Given the description of an element on the screen output the (x, y) to click on. 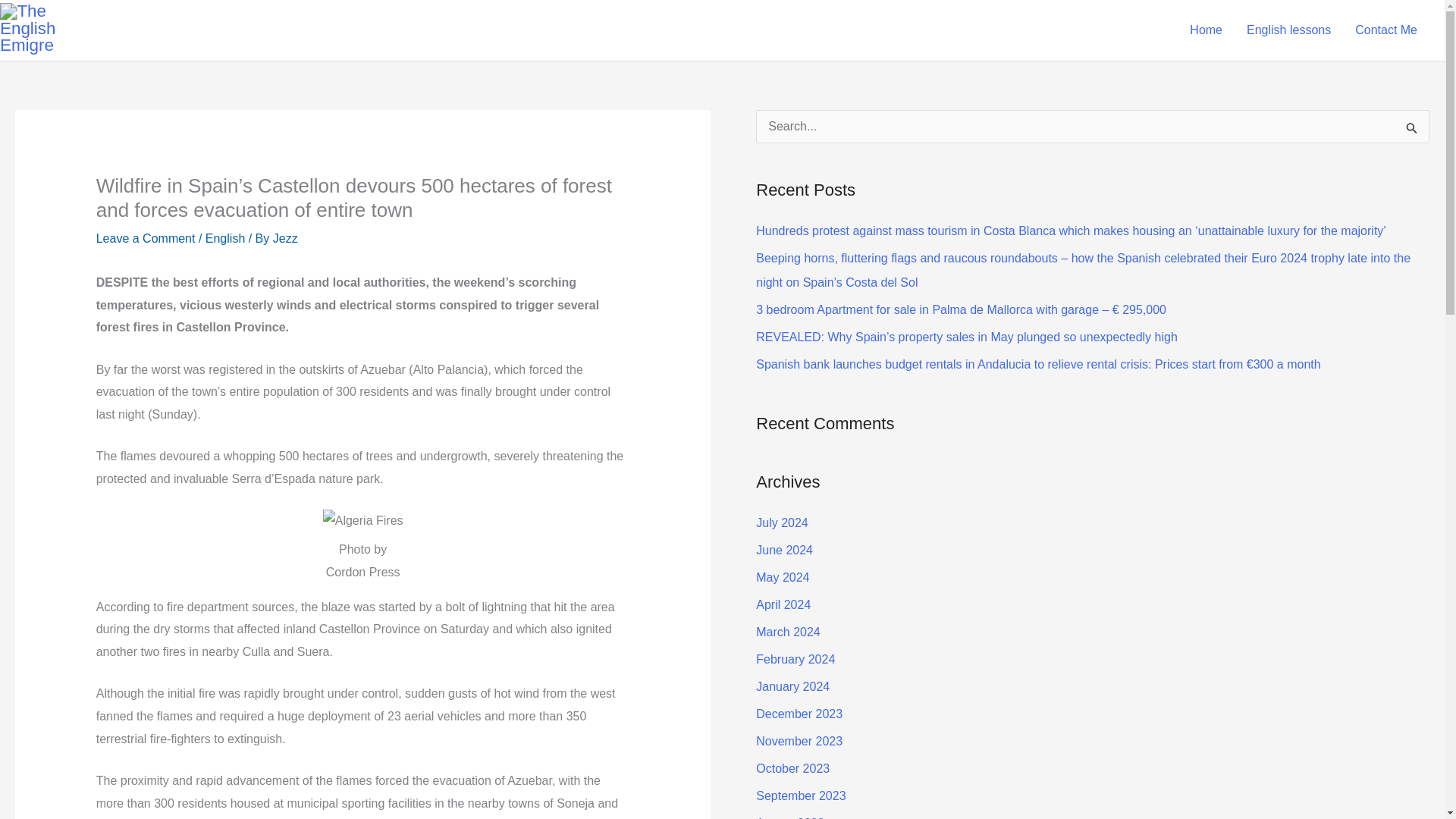
English (224, 237)
August 2023 (789, 817)
June 2024 (783, 549)
April 2024 (782, 604)
Contact Me (1385, 30)
September 2023 (800, 795)
English lessons (1288, 30)
December 2023 (799, 713)
January 2024 (792, 686)
May 2024 (782, 576)
October 2023 (792, 768)
February 2024 (794, 658)
Home (1205, 30)
November 2023 (799, 740)
Jezz (285, 237)
